Given the description of an element on the screen output the (x, y) to click on. 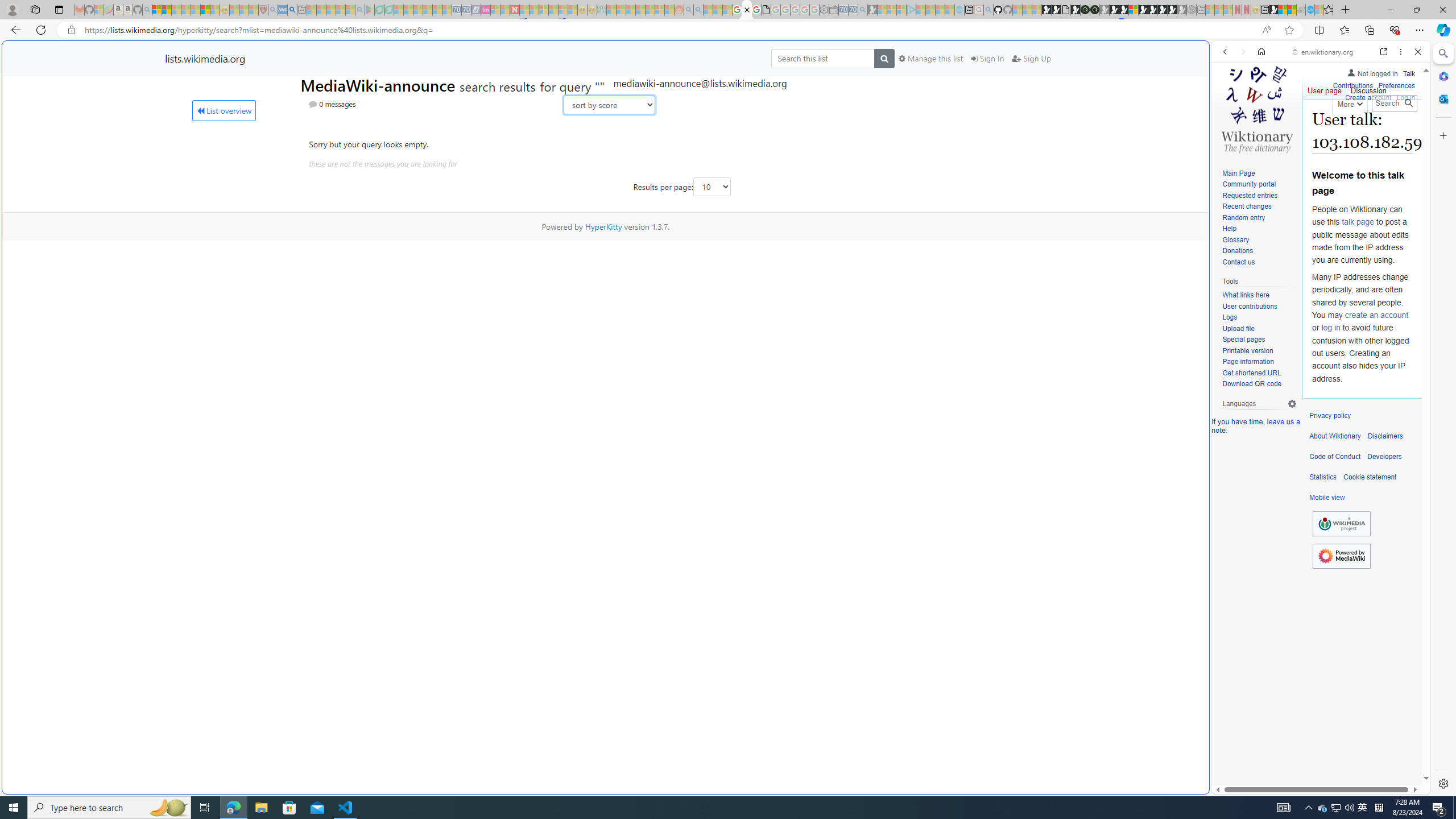
Contributions (1352, 84)
Powered by MediaWiki (1341, 555)
User page (1324, 87)
Earth has six continents not seven, radical new study claims (1291, 9)
